Given the description of an element on the screen output the (x, y) to click on. 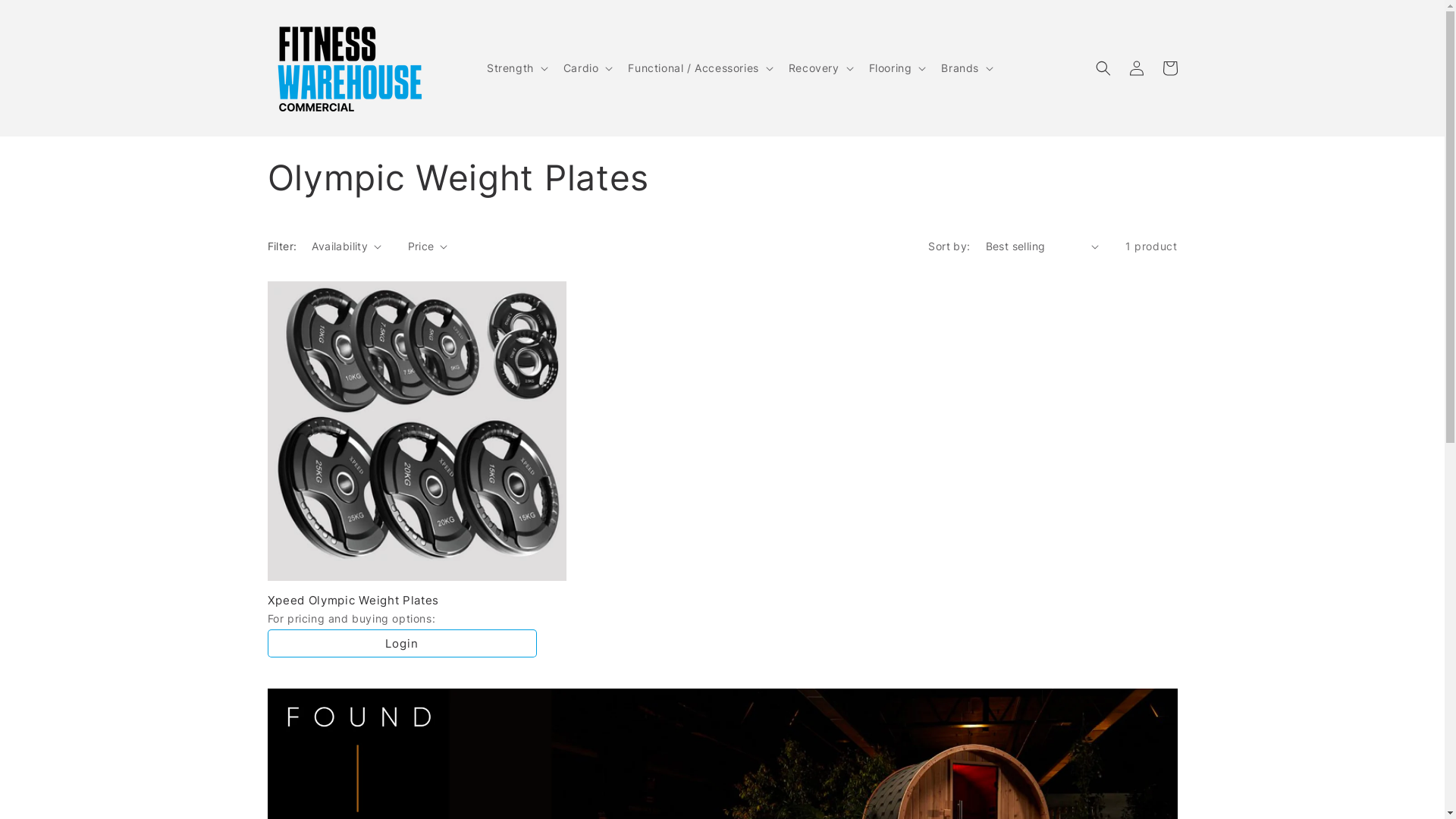
Login Element type: text (401, 643)
Cart Element type: text (1169, 67)
Xpeed Olympic Weight Plates Element type: text (416, 600)
Log in Element type: text (1135, 67)
